Given the description of an element on the screen output the (x, y) to click on. 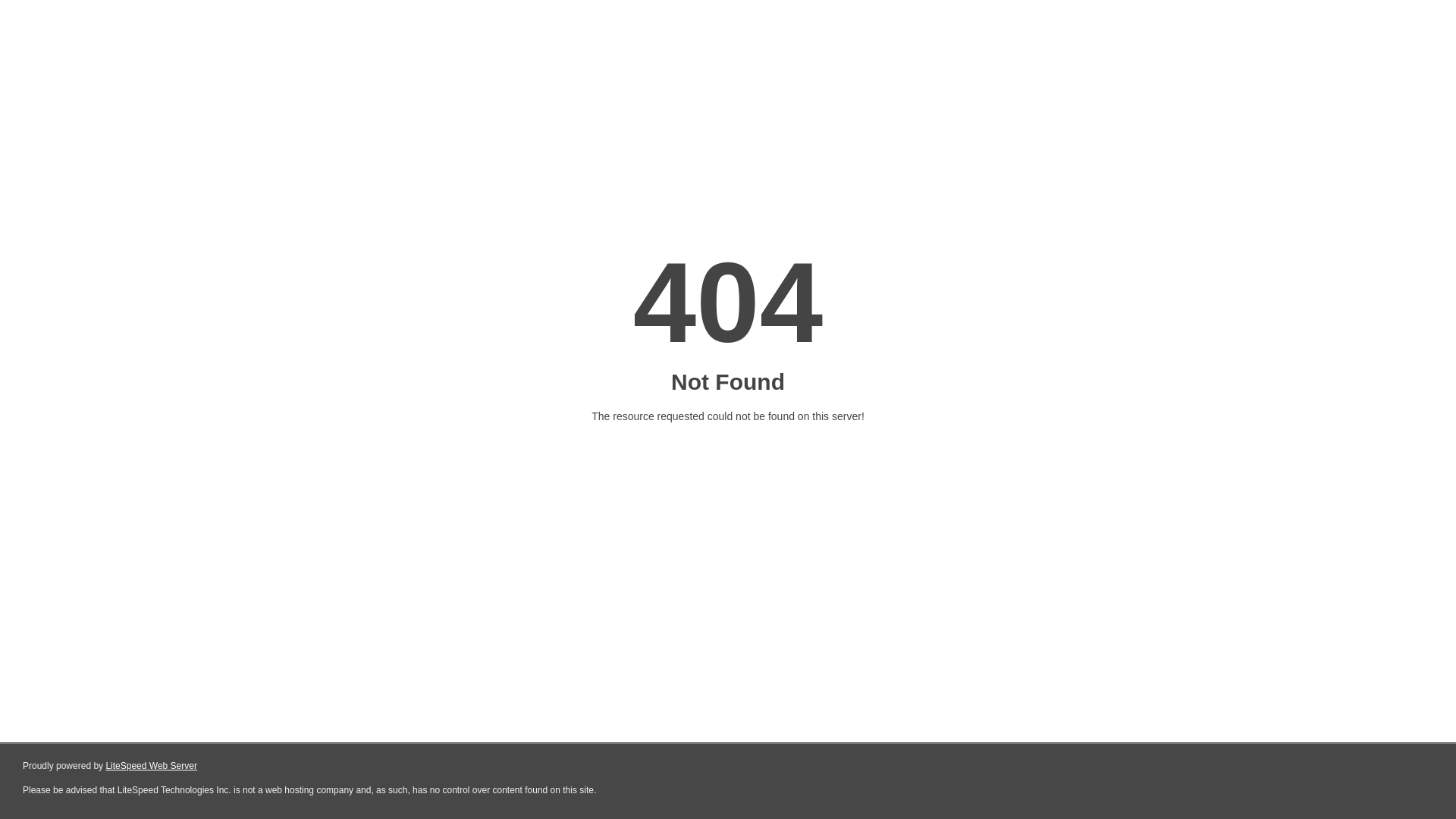
LiteSpeed Web Server Element type: text (151, 765)
